Given the description of an element on the screen output the (x, y) to click on. 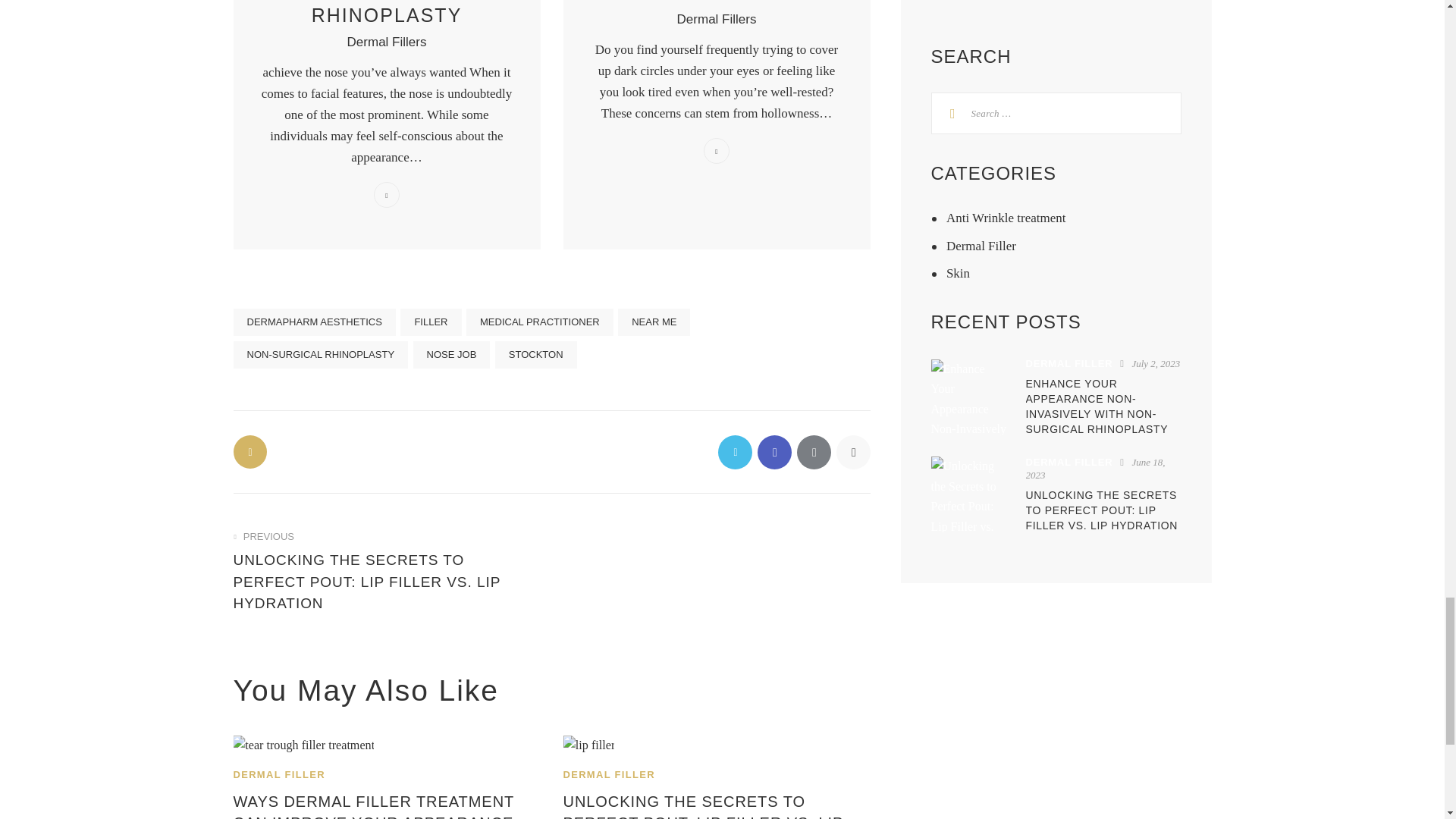
View all posts in Dermal Fillers (386, 42)
Like (250, 451)
View all posts in Dermal Fillers (717, 19)
Copy URL to clipboard (852, 451)
